Given the description of an element on the screen output the (x, y) to click on. 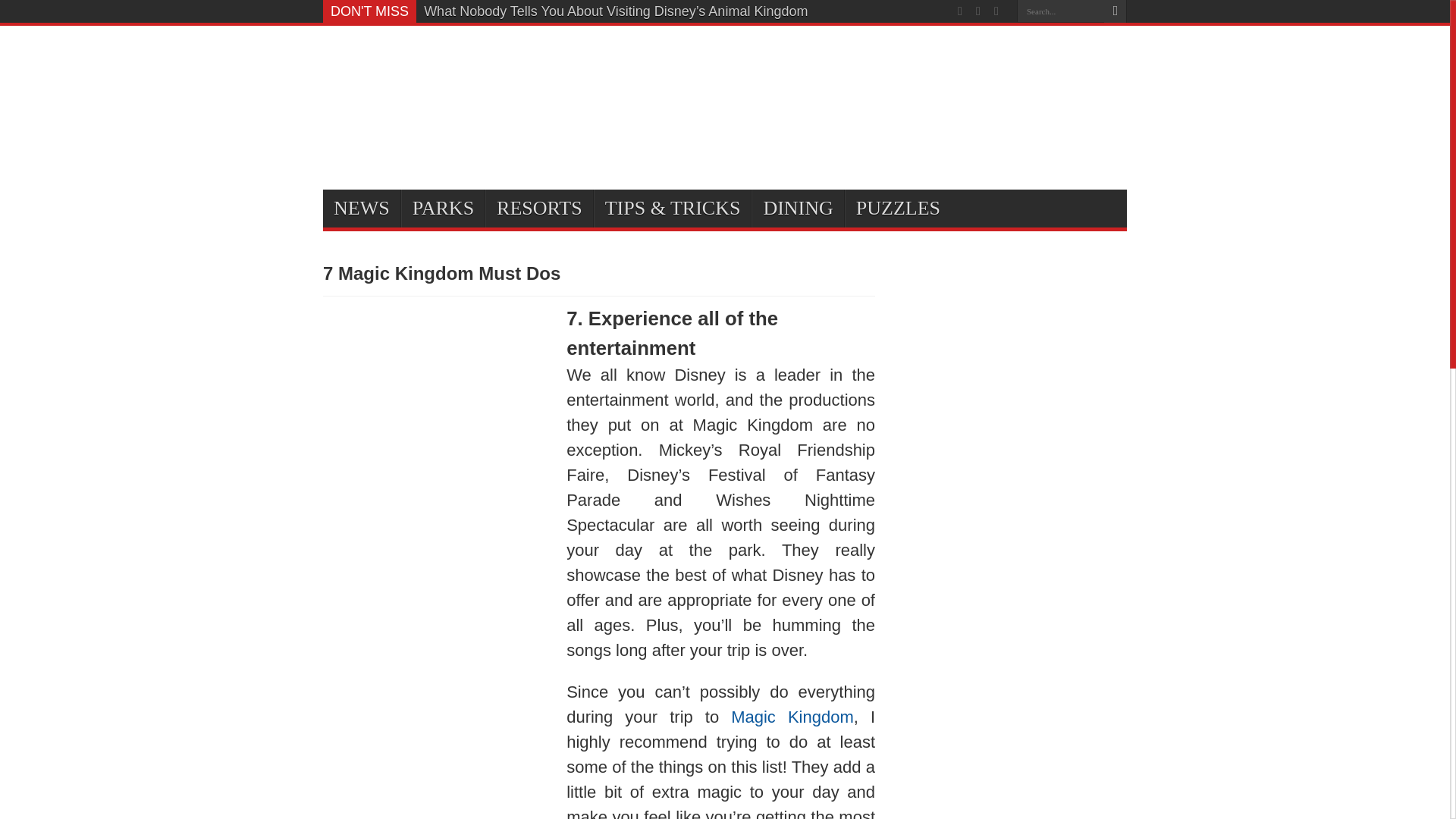
Magic Kingdom (791, 716)
DINING (797, 208)
PUZZLES (897, 208)
Search (1114, 11)
DisneyFanatic.com (398, 67)
NEWS (361, 208)
RESORTS (538, 208)
Magic Kingdom (791, 716)
Search... (1059, 11)
PARKS (442, 208)
